Given the description of an element on the screen output the (x, y) to click on. 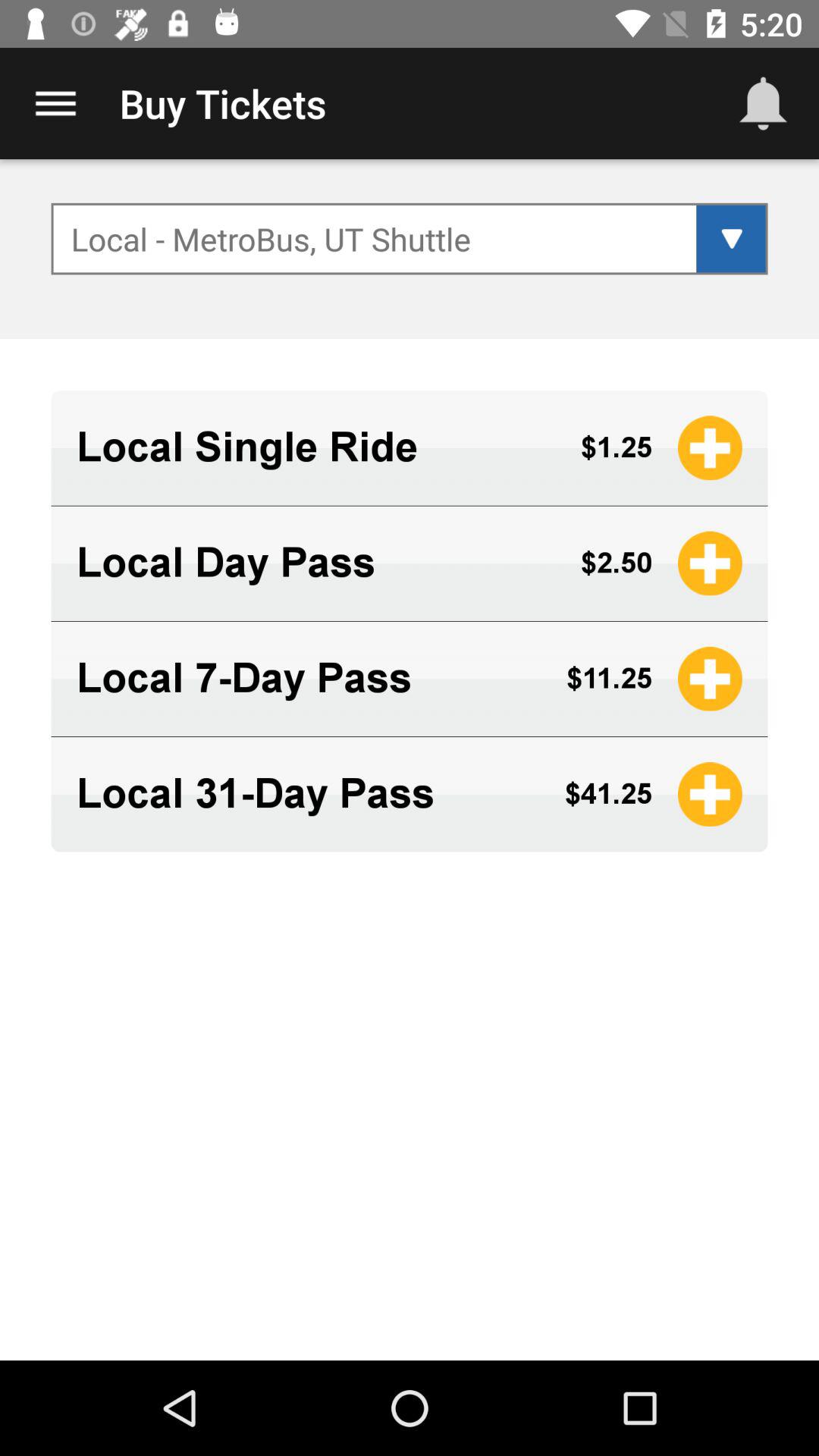
open item next to buy tickets app (763, 103)
